Given the description of an element on the screen output the (x, y) to click on. 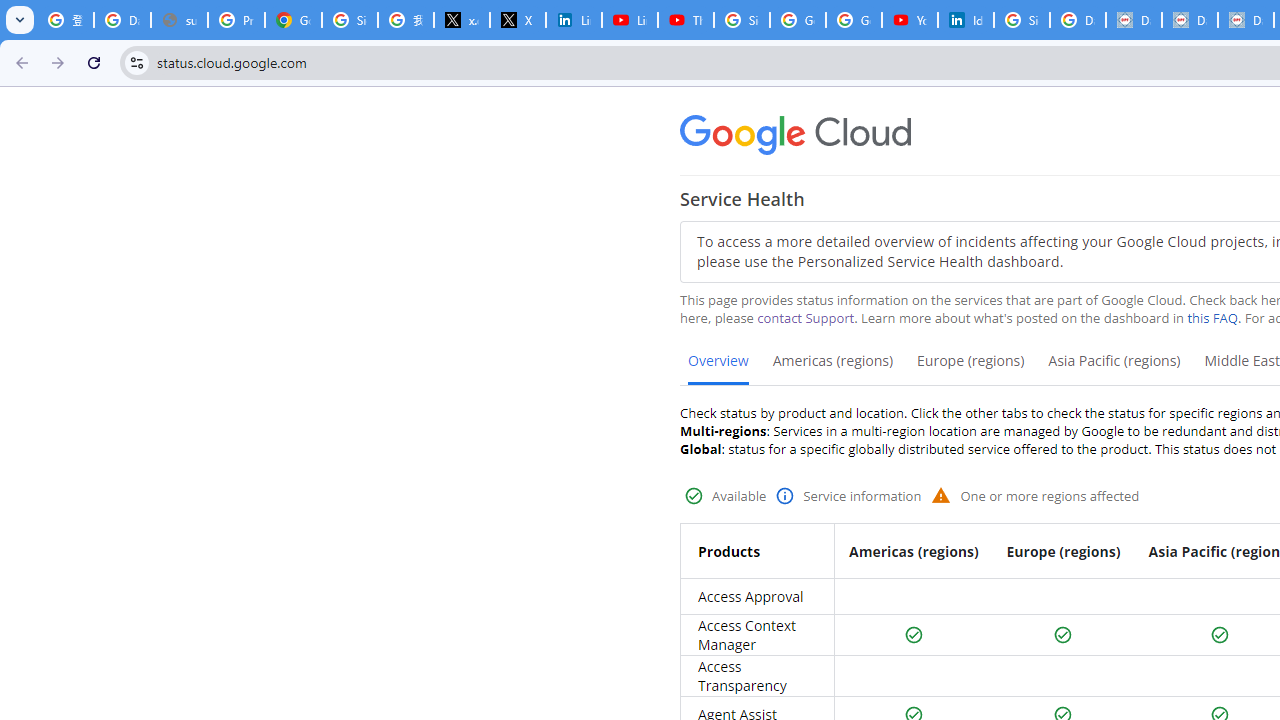
Asia Pacific (regions) (1114, 368)
Available status (1220, 635)
X (518, 20)
Europe (regions) (970, 368)
Informational status (784, 496)
contact Support (805, 318)
support.google.com - Network error (179, 20)
this FAQ (1211, 318)
Warning status (941, 494)
LinkedIn - YouTube (629, 20)
